Given the description of an element on the screen output the (x, y) to click on. 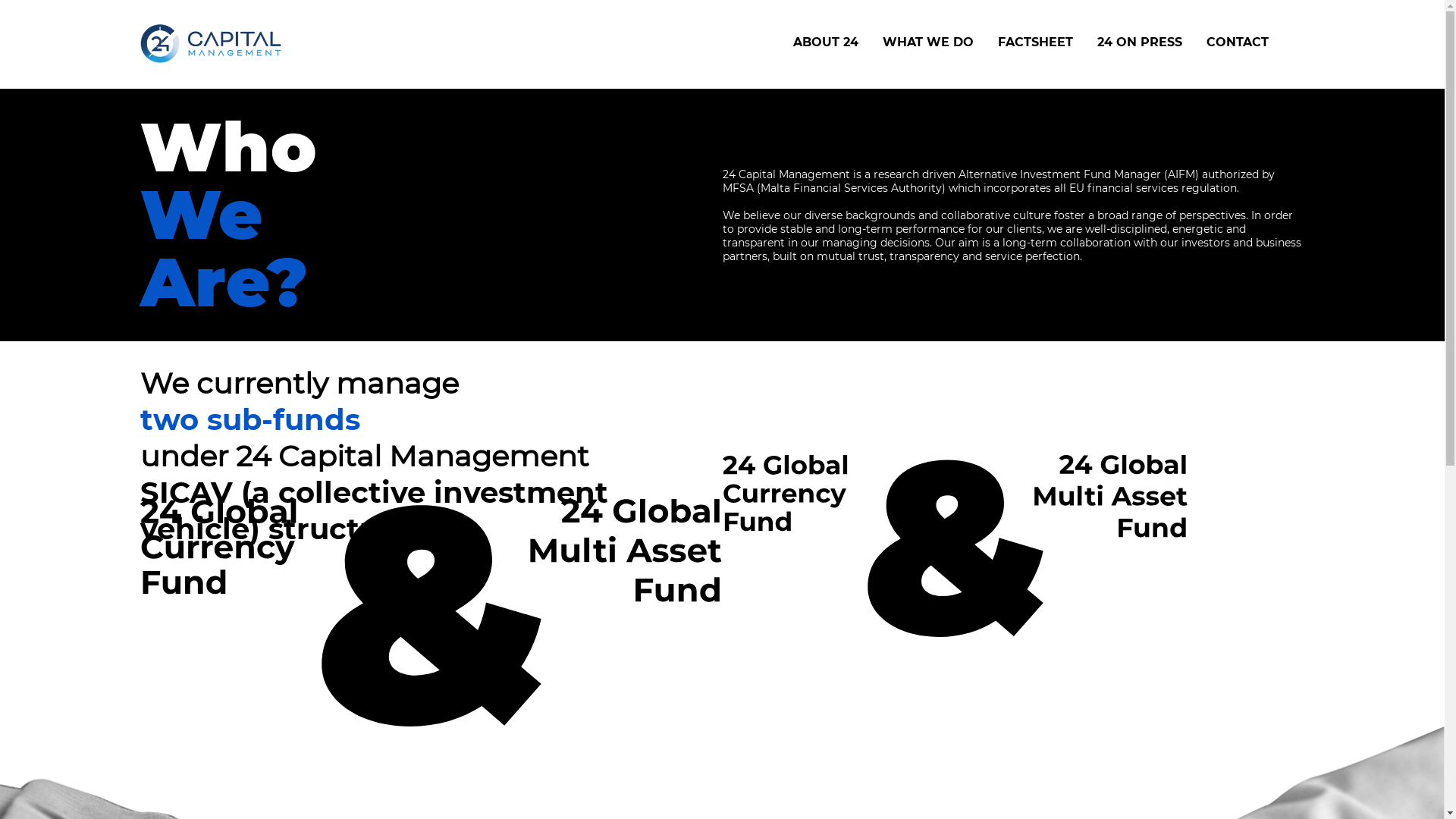
WHAT WE DO Element type: text (927, 42)
FACTSHEET Element type: text (1035, 42)
24 ON PRESS Element type: text (1138, 42)
CONTACT Element type: text (1236, 42)
ABOUT 24 Element type: text (825, 42)
